Given the description of an element on the screen output the (x, y) to click on. 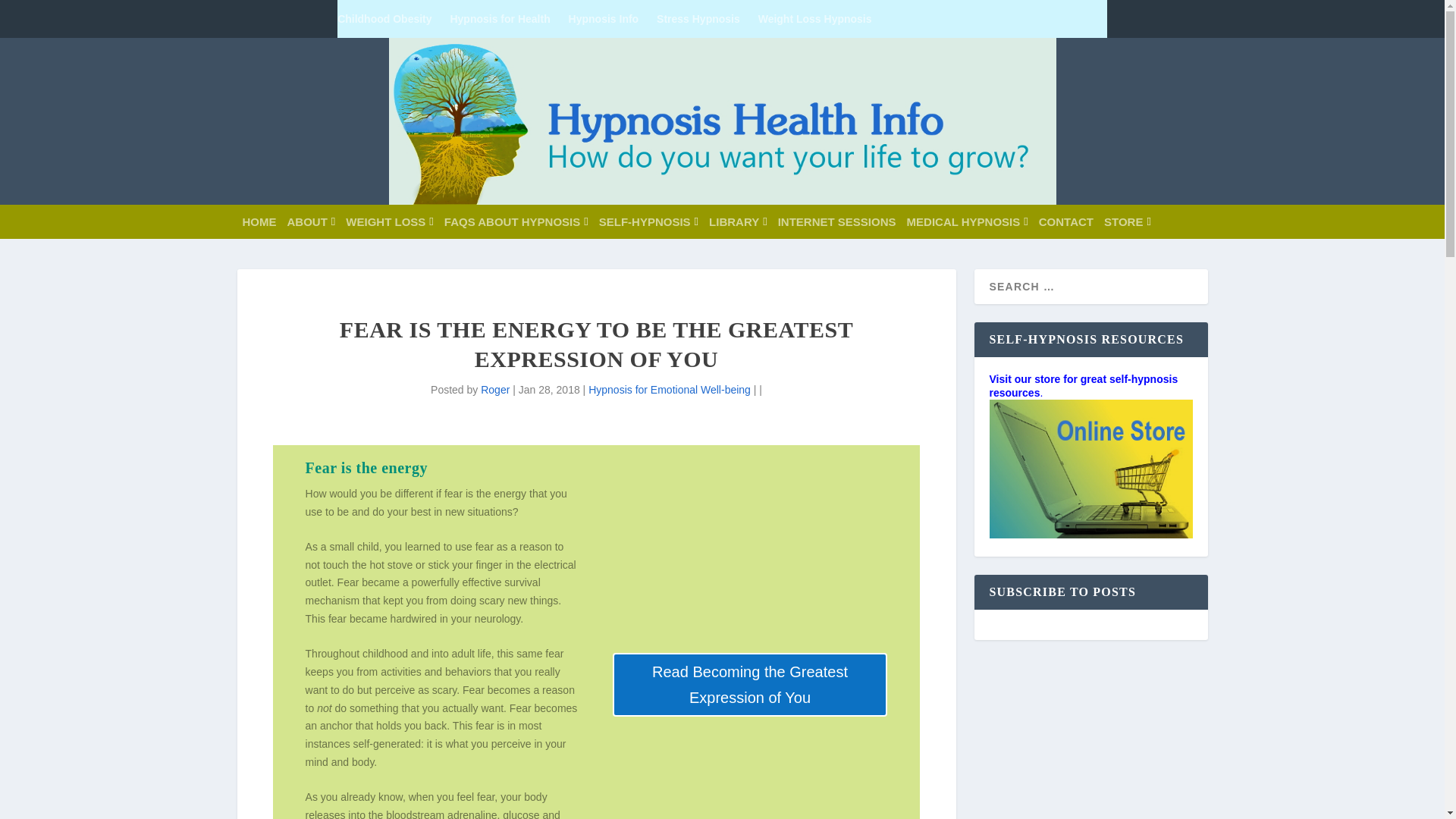
MEDICAL HYPNOSIS (967, 221)
FAQS ABOUT HYPNOSIS (516, 221)
Hypnosis for Health (499, 18)
WEIGHT LOSS (389, 221)
ABOUT (310, 221)
Posts by Roger (494, 389)
SELF-HYPNOSIS (648, 221)
Hypnosis Info (604, 18)
Childhood Obesity (383, 18)
Stress Hypnosis (697, 18)
HOME (259, 221)
INTERNET SESSIONS (836, 221)
Weight Loss Hypnosis (815, 18)
LIBRARY (738, 221)
